Given the description of an element on the screen output the (x, y) to click on. 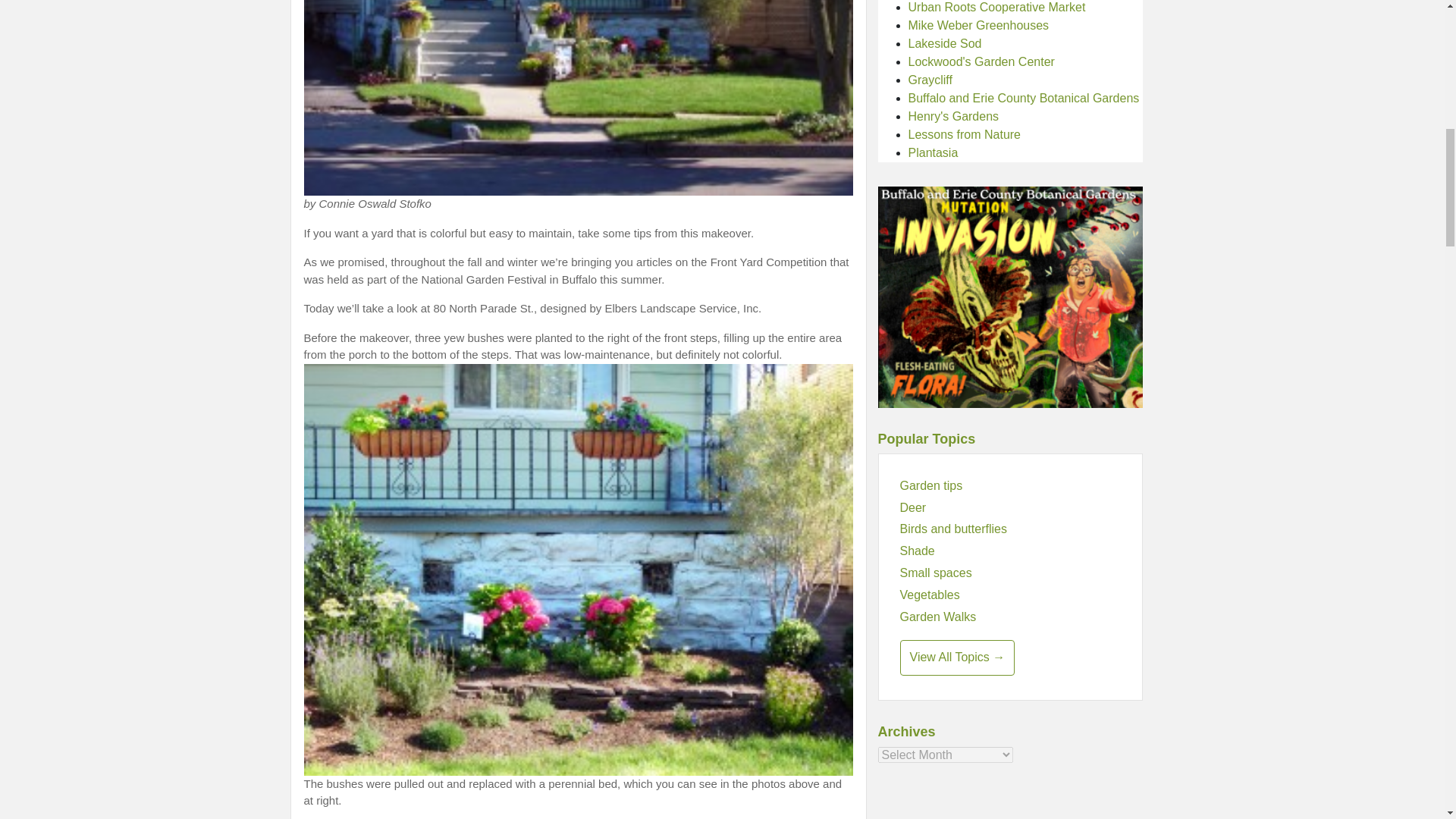
Henry's Gardens (953, 115)
Buffalo and Erie County Botanical Gardens (1024, 97)
Lakeside Sod (944, 42)
Graycliff (930, 79)
Urban Roots Cooperative Market (997, 6)
Mike Weber Greenhouses (978, 24)
Lockwood's Garden Center (981, 61)
front yard 80 North Parade Buffalo (576, 98)
